Given the description of an element on the screen output the (x, y) to click on. 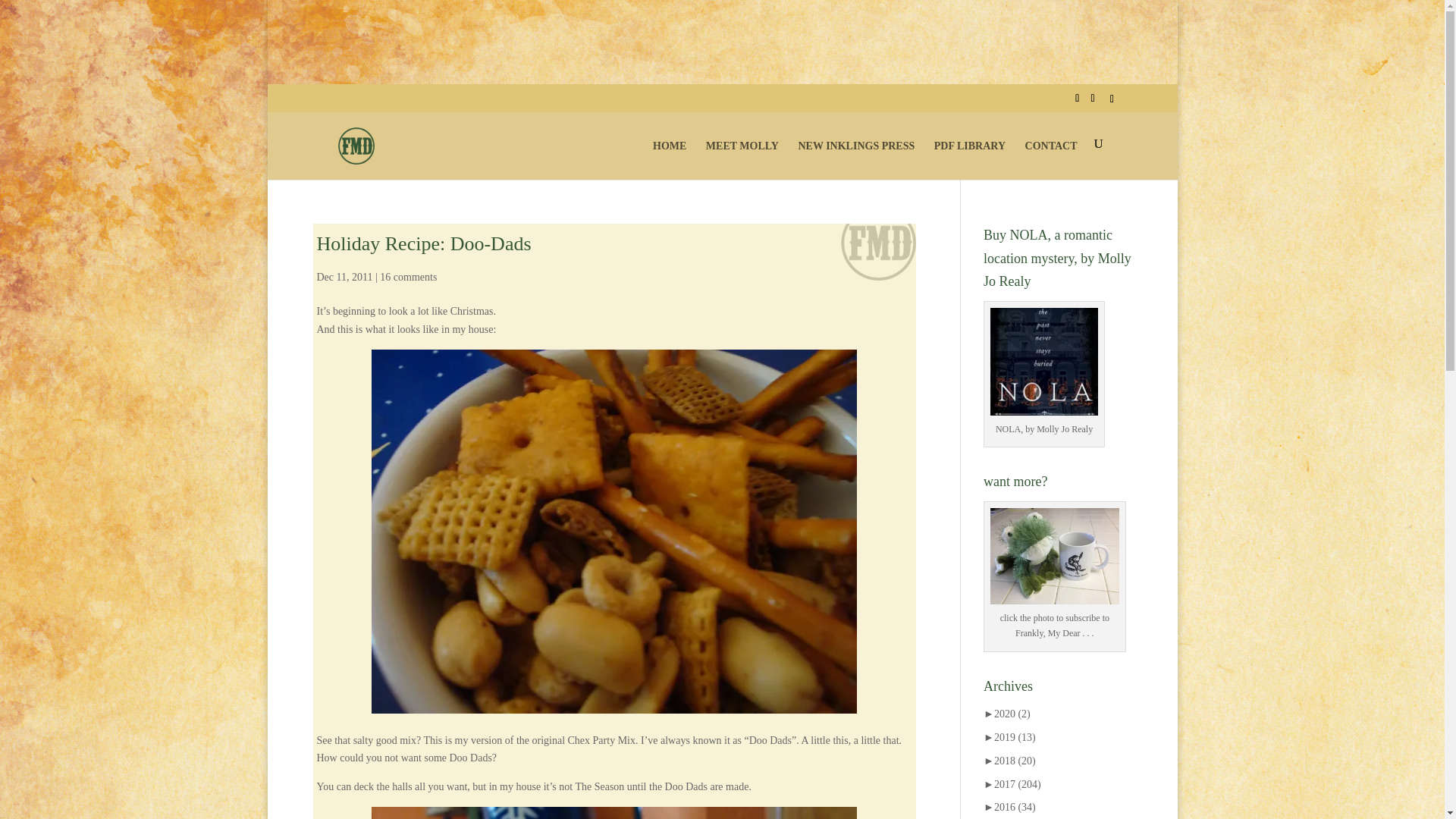
Holiday Recipe: Doo-Dads (424, 243)
MEET MOLLY (742, 157)
16 comments (408, 276)
PDF LIBRARY (970, 157)
CONTACT (1051, 157)
NEW INKLINGS PRESS (855, 157)
Holiday Doo Dads (614, 812)
click to expand (1009, 737)
click to expand (1007, 713)
